Given the description of an element on the screen output the (x, y) to click on. 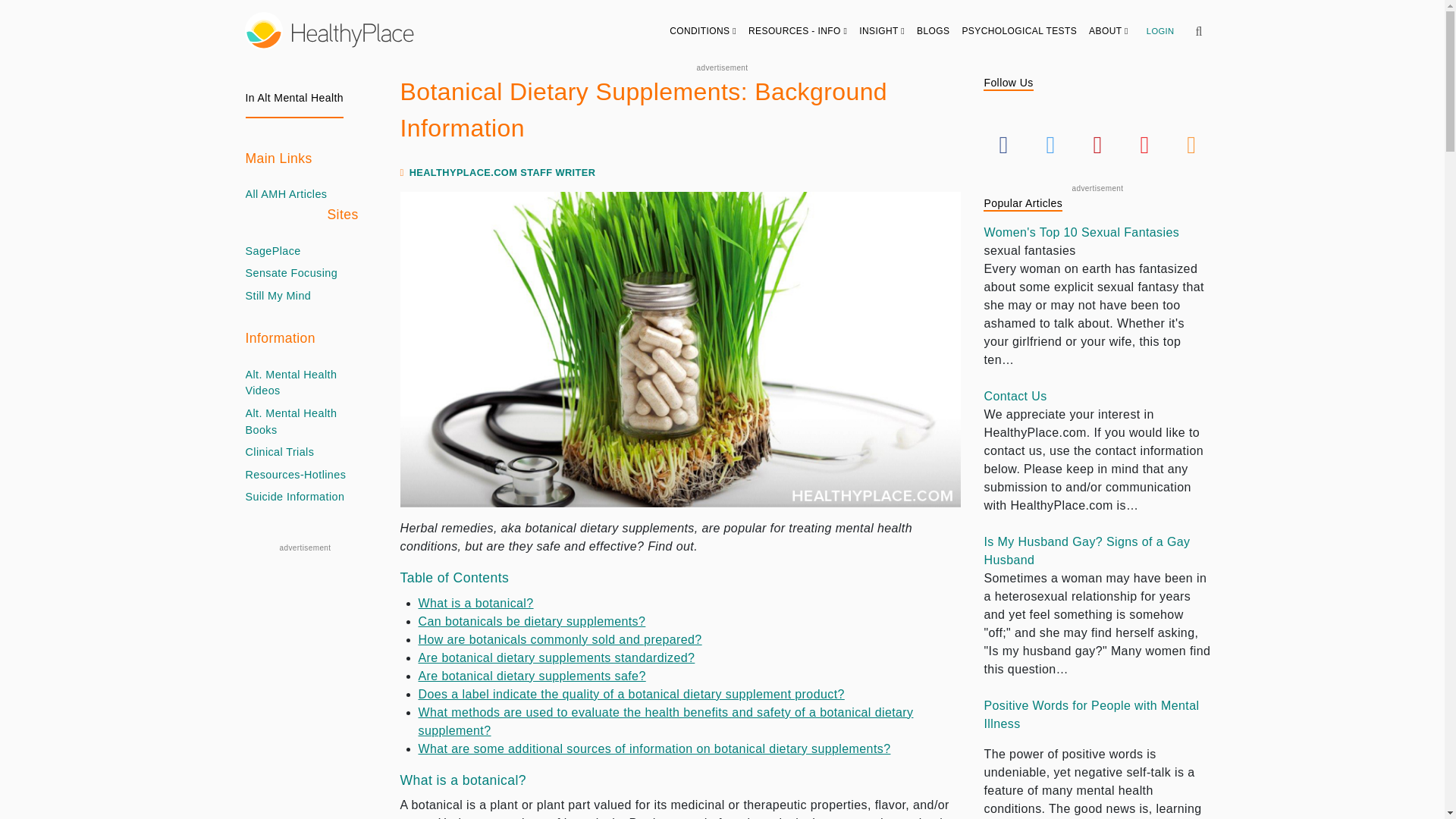
INSIGHT (882, 31)
CONDITIONS (702, 31)
RESOURCES - INFO (797, 31)
